Given the description of an element on the screen output the (x, y) to click on. 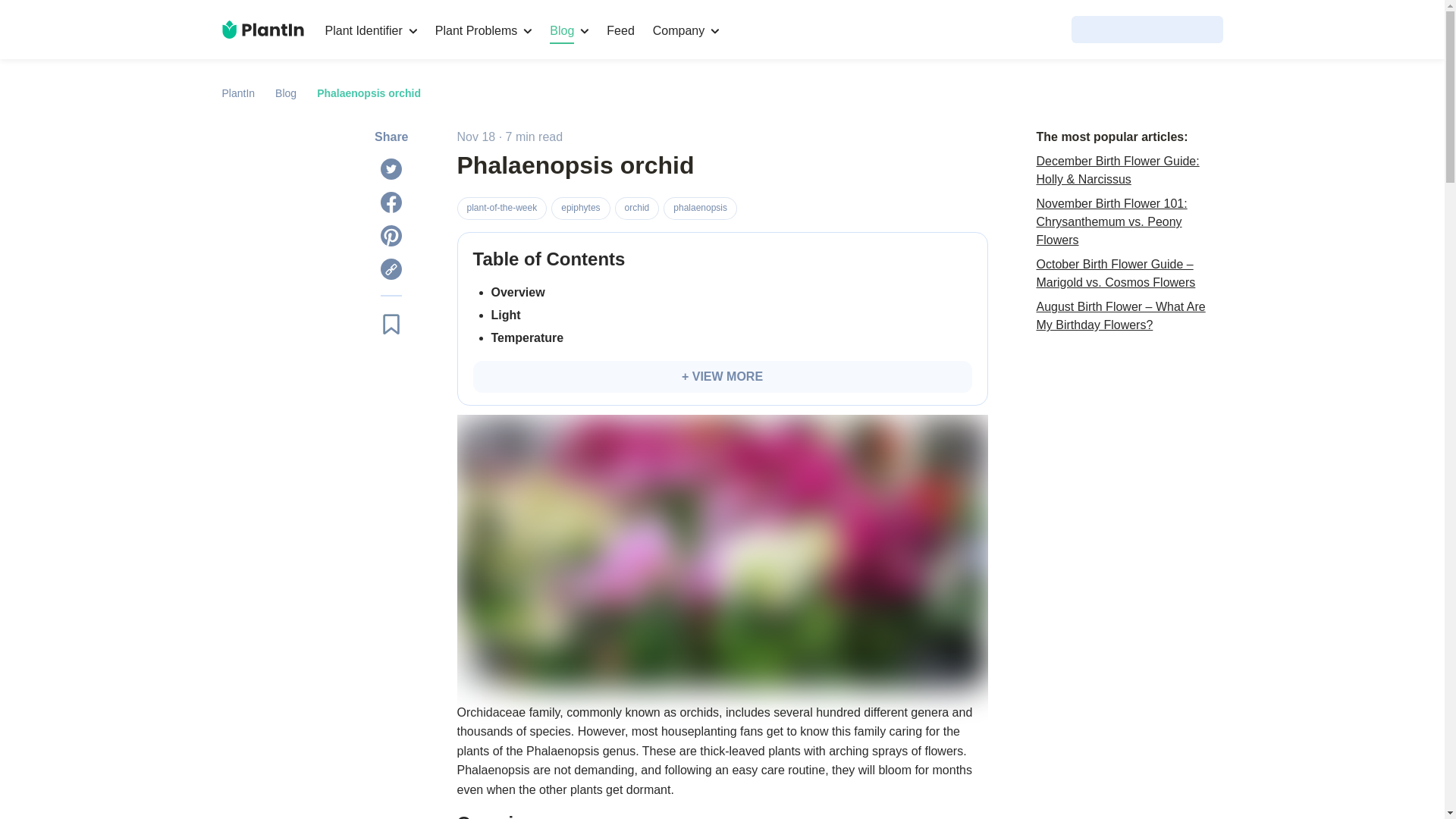
Home (261, 29)
PlantIn (237, 93)
Twitter (390, 168)
Plant Identifier (370, 31)
Facebook (390, 201)
Copy to clipboard (390, 269)
Feed (619, 31)
Blog (568, 31)
Blog (286, 93)
